Given the description of an element on the screen output the (x, y) to click on. 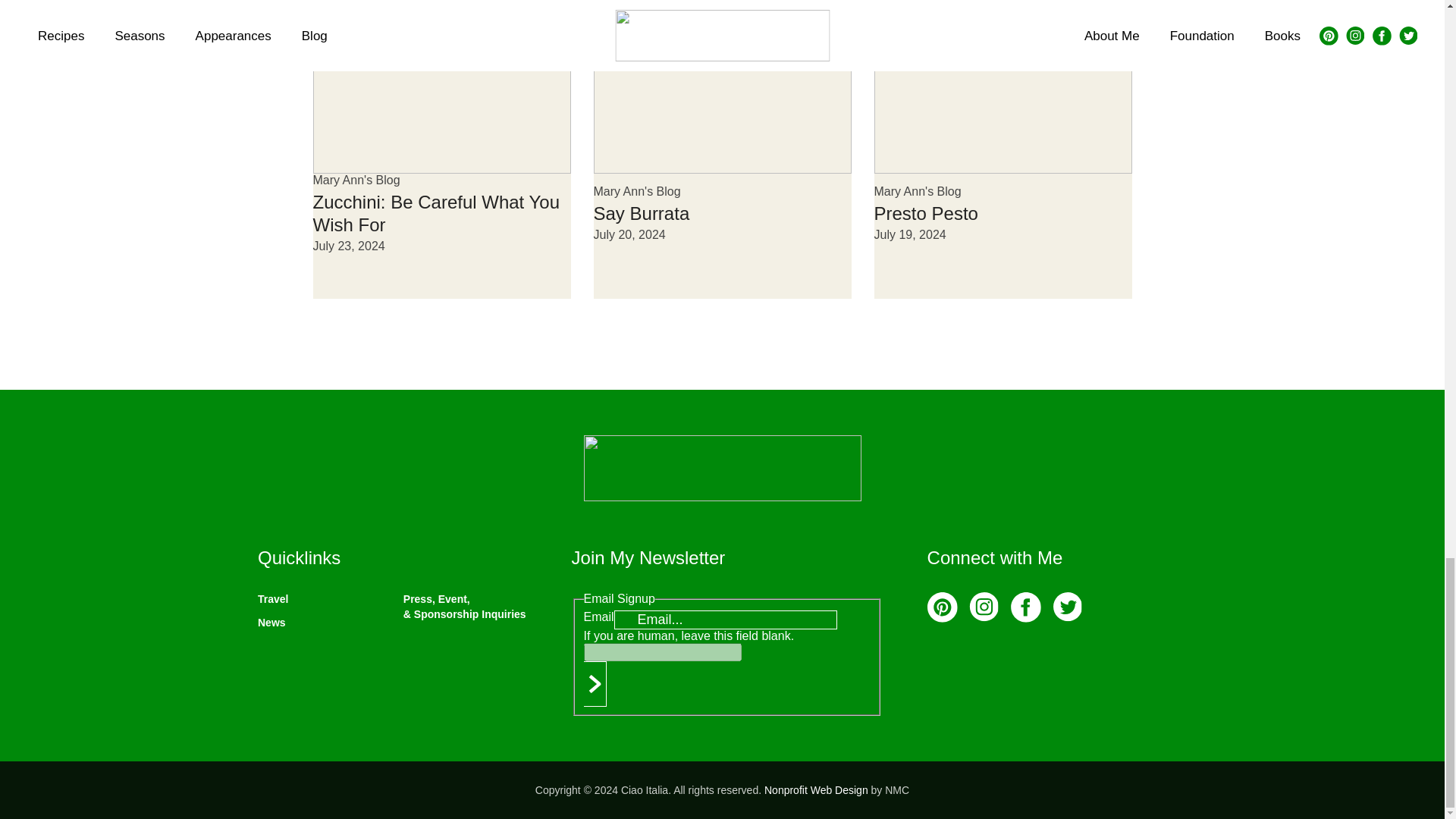
Zucchini: Be Careful What You Wish For  (436, 213)
Presto Pesto (924, 213)
Say Burrata (640, 213)
News (271, 622)
Travel (272, 598)
Nonprofit Web Design (815, 789)
